Given the description of an element on the screen output the (x, y) to click on. 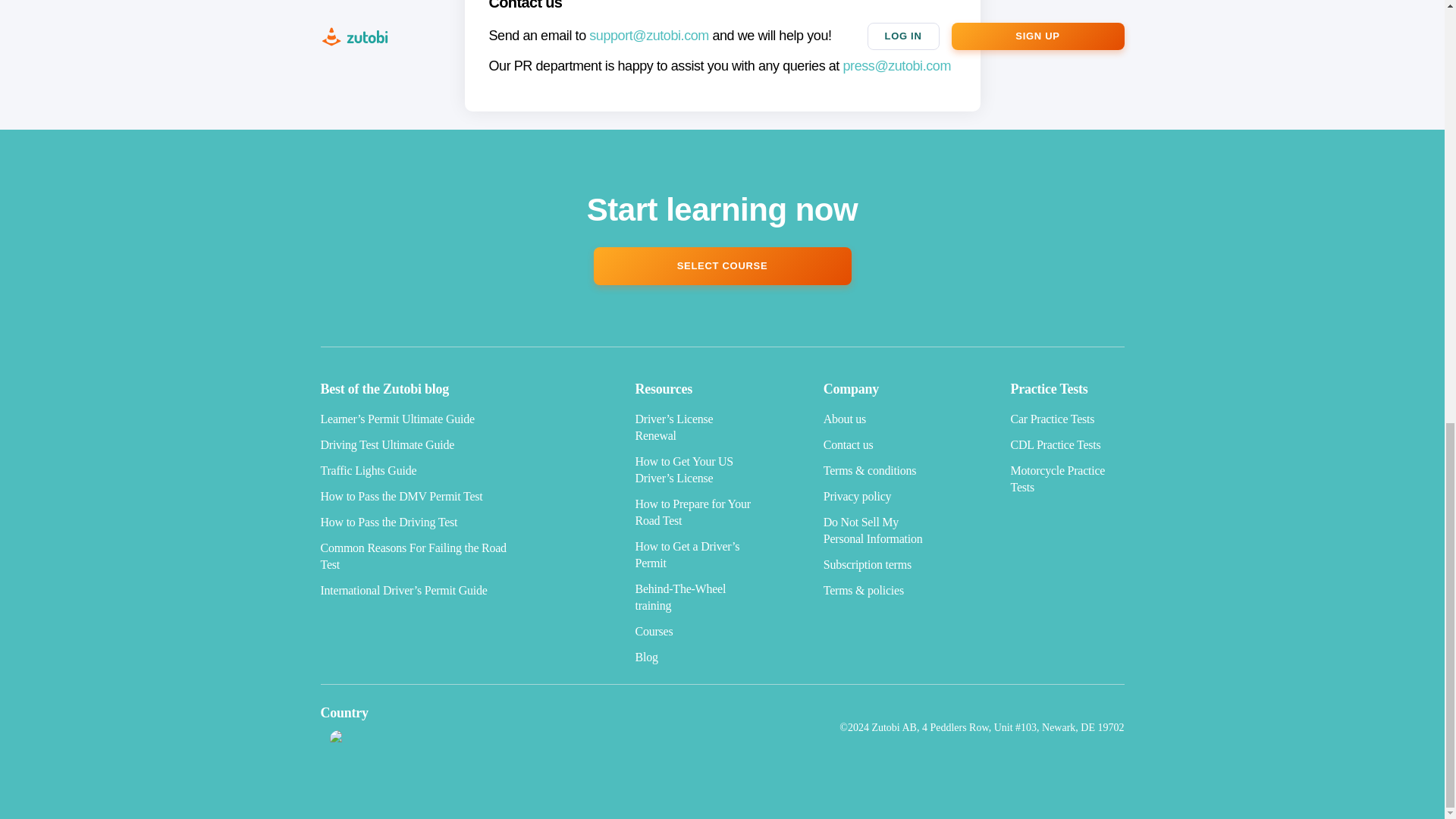
Motorcycle Practice Tests (1057, 478)
Common Reasons For Failing the Road Test (412, 555)
Behind-The-Wheel training (680, 596)
How to Prepare for Your Road Test (692, 512)
Driving Test Ultimate Guide (387, 444)
Courses (653, 631)
Privacy policy (857, 495)
SELECT COURSE (721, 266)
Contact us (848, 444)
Subscription terms (867, 563)
